Given the description of an element on the screen output the (x, y) to click on. 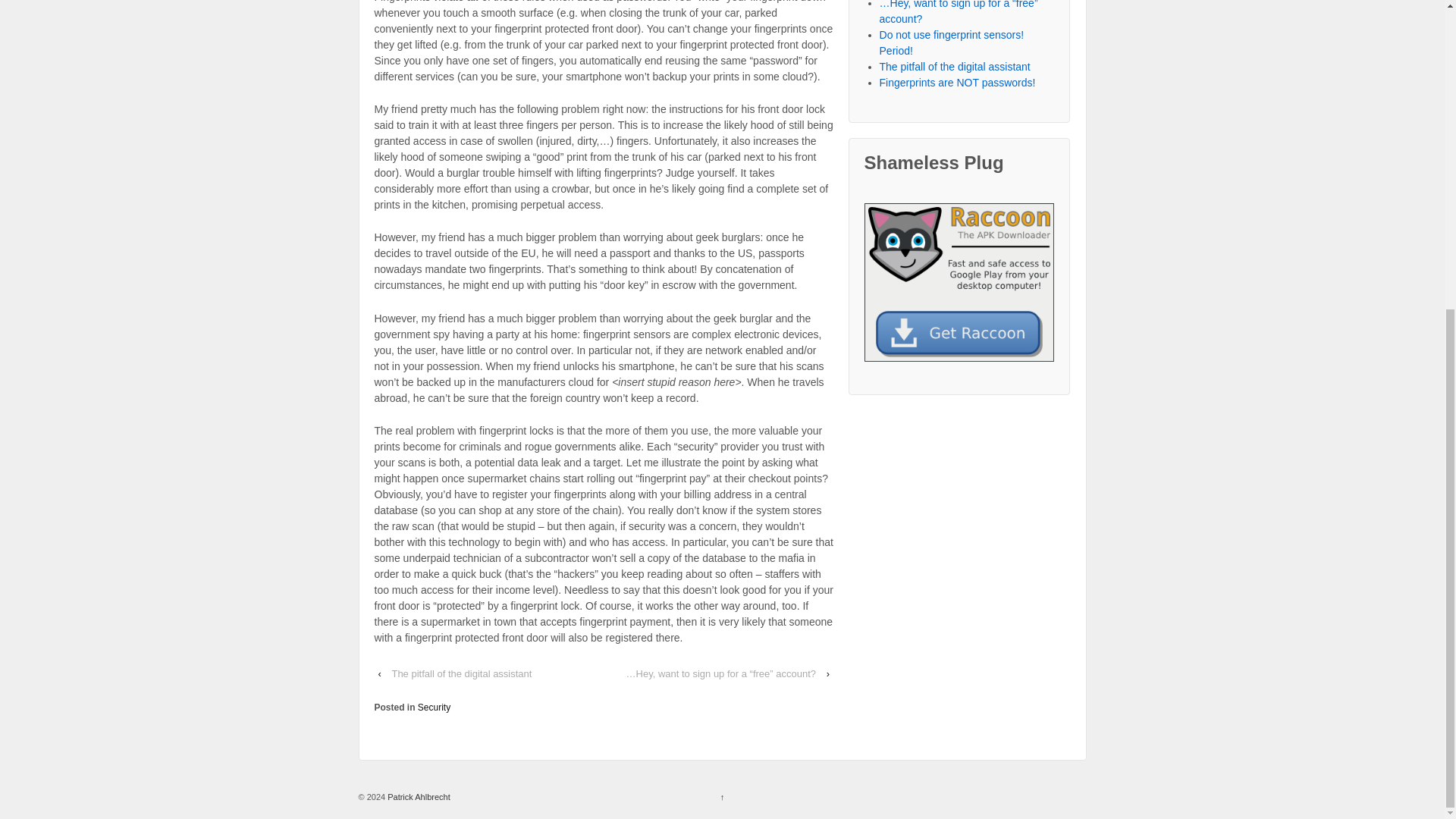
The pitfall of the digital assistant (954, 66)
Patrick Ahlbrecht (417, 796)
Do not use fingerprint sensors! Period! (952, 42)
Fingerprints are NOT passwords! (957, 82)
The pitfall of the digital assistant (461, 673)
Security (433, 706)
